Given the description of an element on the screen output the (x, y) to click on. 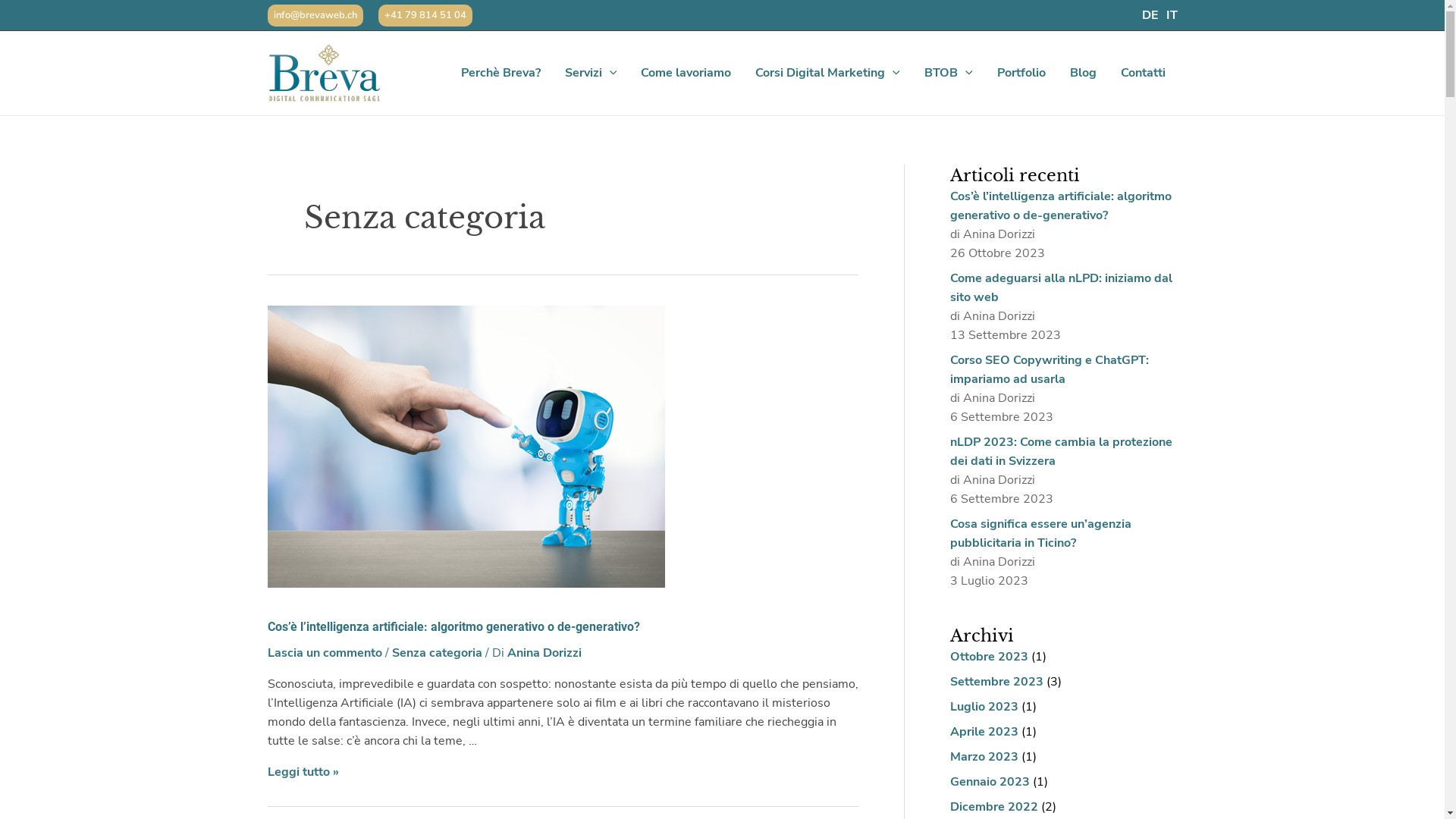
IT Element type: text (1171, 15)
Contatti Element type: text (1142, 72)
BTOB Element type: text (948, 72)
Dicembre 2022 Element type: text (993, 806)
Anina Dorizzi Element type: text (543, 652)
Gennaio 2023 Element type: text (989, 781)
Lascia un commento Element type: text (323, 652)
Settembre 2023 Element type: text (995, 681)
Marzo 2023 Element type: text (983, 756)
Corso SEO Copywriting e ChatGPT: impariamo ad usarla Element type: text (1048, 369)
Blog Element type: text (1082, 72)
+41 79 814 51 04 Element type: text (424, 15)
Corsi Digital Marketing Element type: text (827, 72)
DE Element type: text (1150, 15)
info@brevaweb.ch Element type: text (314, 15)
Aprile 2023 Element type: text (983, 731)
Portfolio Element type: text (1020, 72)
Servizi Element type: text (590, 72)
Come adeguarsi alla nLPD: iniziamo dal sito web Element type: text (1060, 287)
nLDP 2023: Come cambia la protezione dei dati in Svizzera Element type: text (1060, 451)
Senza categoria Element type: text (436, 652)
Ottobre 2023 Element type: text (988, 656)
Come lavoriamo Element type: text (685, 72)
Luglio 2023 Element type: text (983, 706)
